Given the description of an element on the screen output the (x, y) to click on. 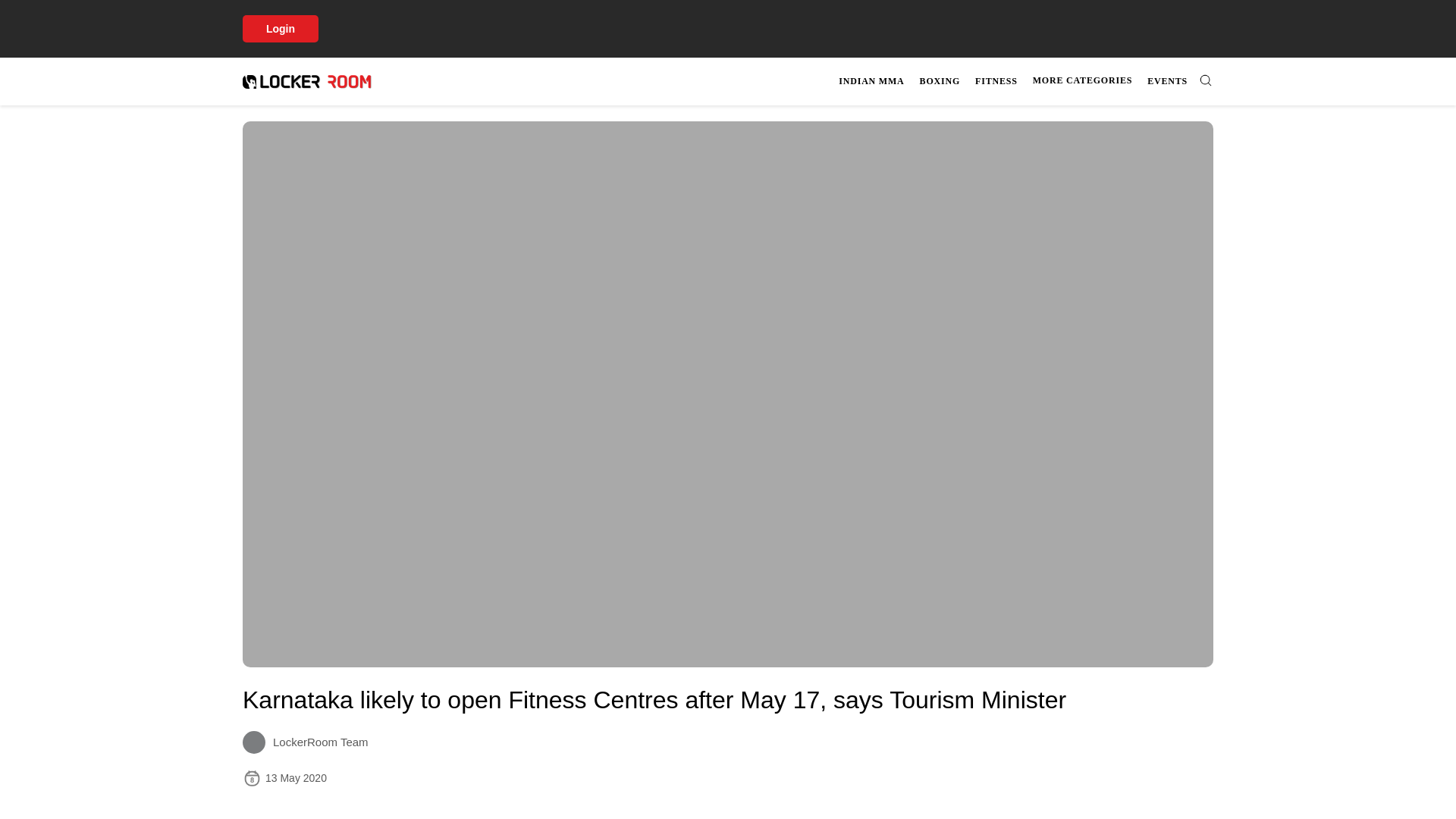
BOXING (939, 81)
Advertisement (1023, 81)
MORE CATEGORIES (698, 807)
INDIAN MMA (1082, 80)
FITNESS (871, 81)
EVENTS (996, 81)
